Given the description of an element on the screen output the (x, y) to click on. 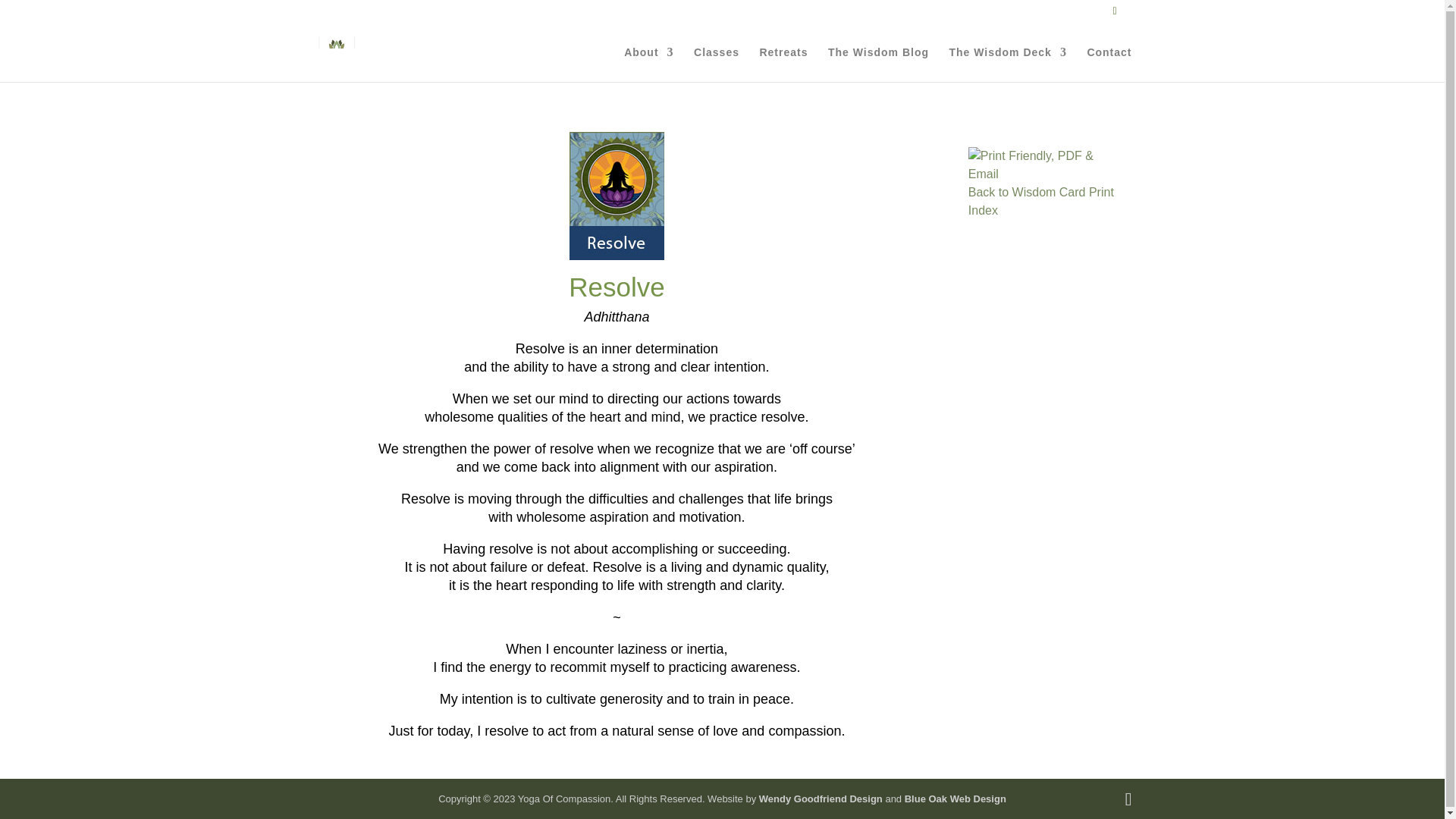
The Wisdom Deck (1007, 63)
Blue Oak Web Design (955, 798)
Back to Wisdom Card Print Index (1040, 201)
Wendy Goodfriend Design (820, 798)
The Wisdom Blog (878, 63)
Contact (1108, 63)
Classes (716, 63)
About (648, 63)
Retreats (783, 63)
